Given the description of an element on the screen output the (x, y) to click on. 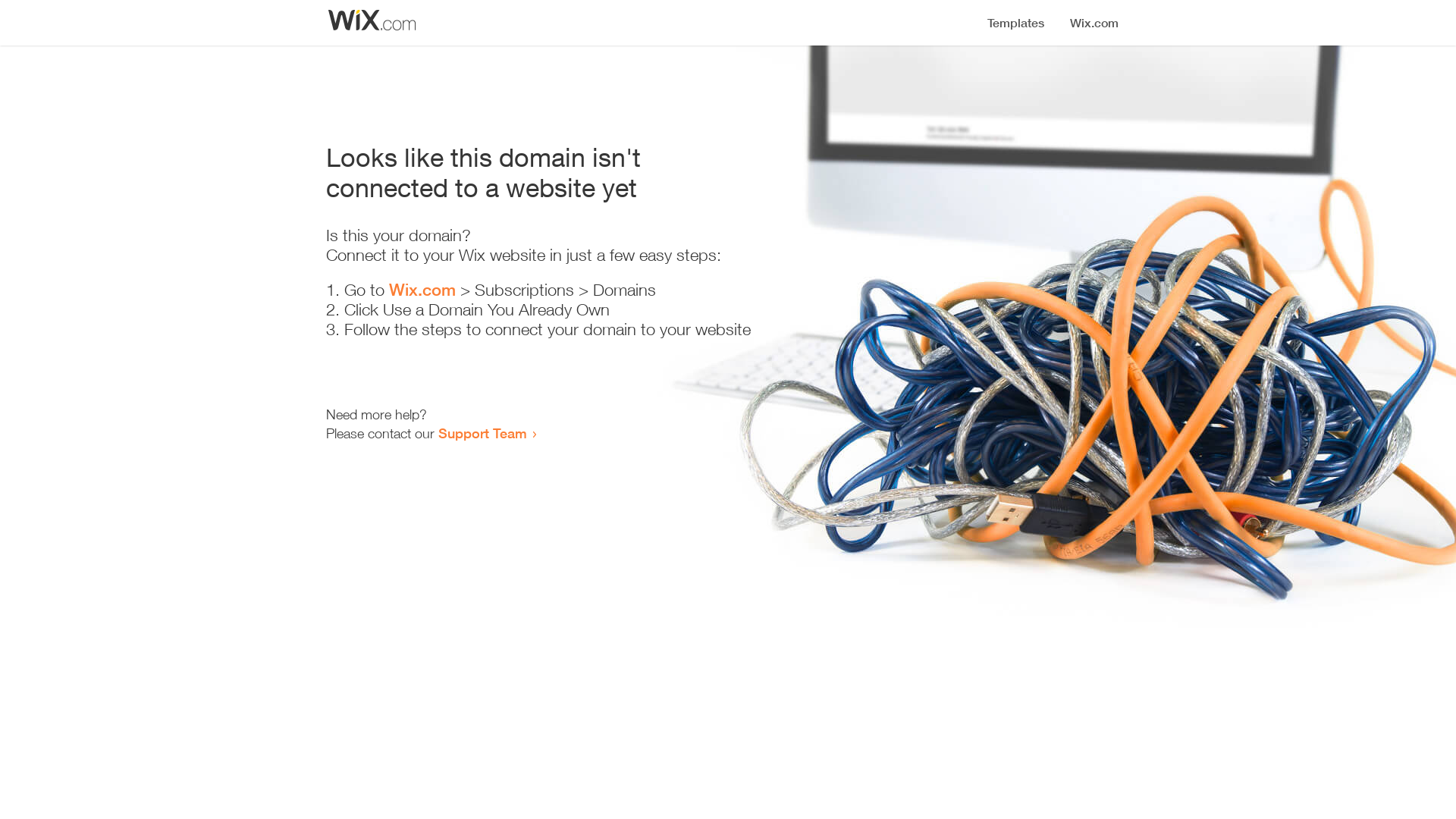
Support Team Element type: text (482, 432)
Wix.com Element type: text (422, 289)
